Given the description of an element on the screen output the (x, y) to click on. 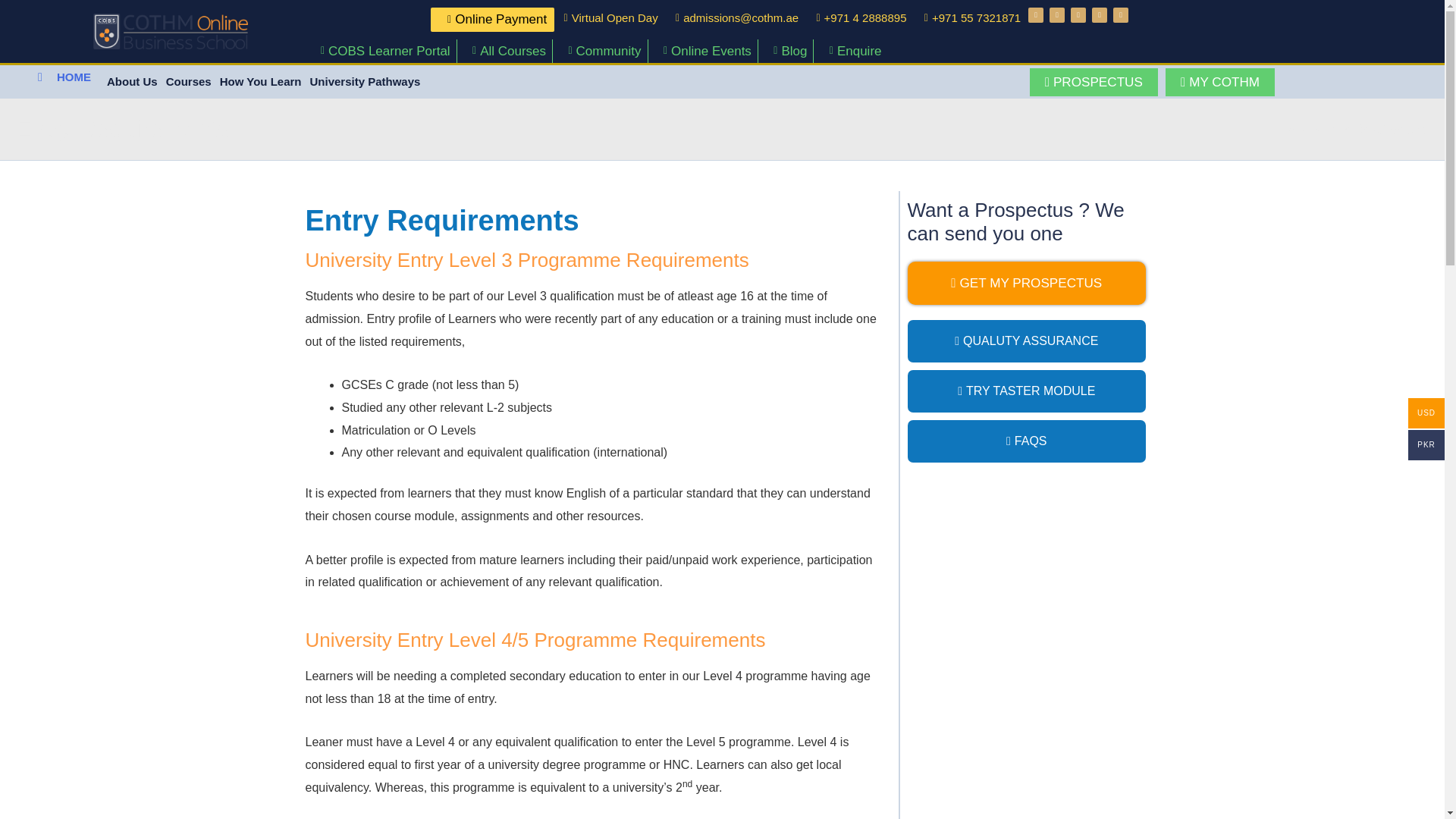
HOME (63, 76)
Community (599, 51)
About Us (132, 81)
Virtual Open Day (606, 17)
Online Events (702, 51)
Blog (786, 51)
All Courses (504, 51)
Enquire (849, 51)
University Pathways (365, 81)
How You Learn (260, 81)
